Given the description of an element on the screen output the (x, y) to click on. 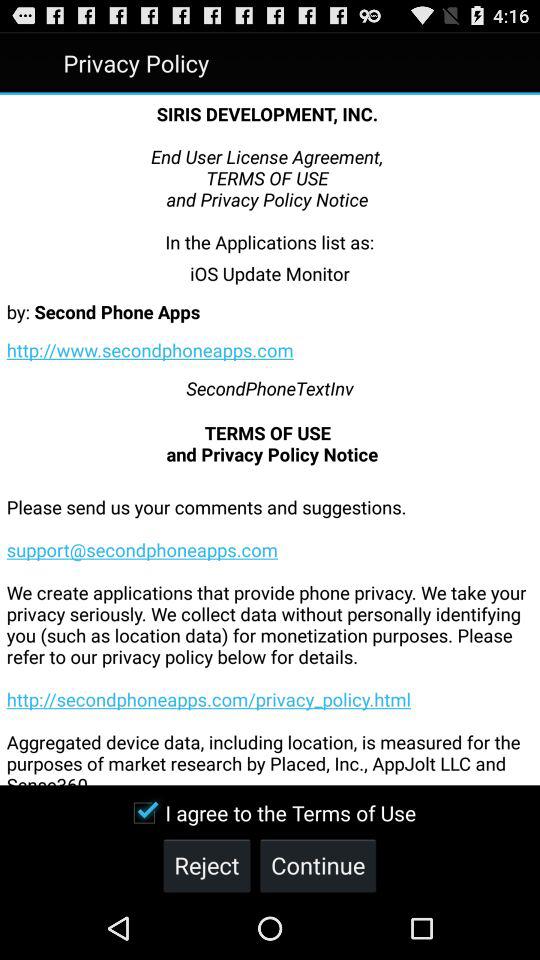
turn on continue (318, 864)
